Given the description of an element on the screen output the (x, y) to click on. 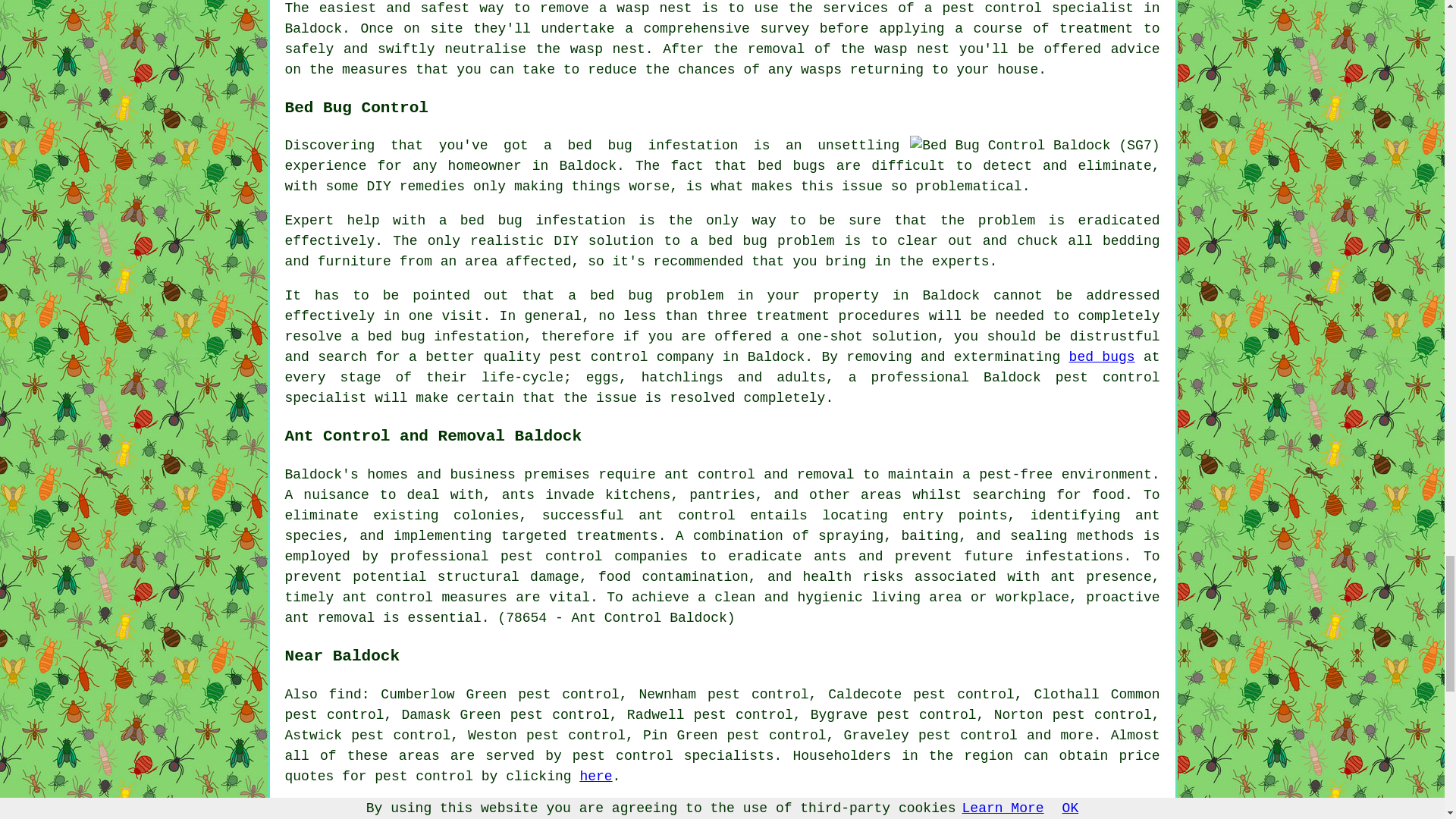
More Baldock Tradesmen (1064, 809)
